Given the description of an element on the screen output the (x, y) to click on. 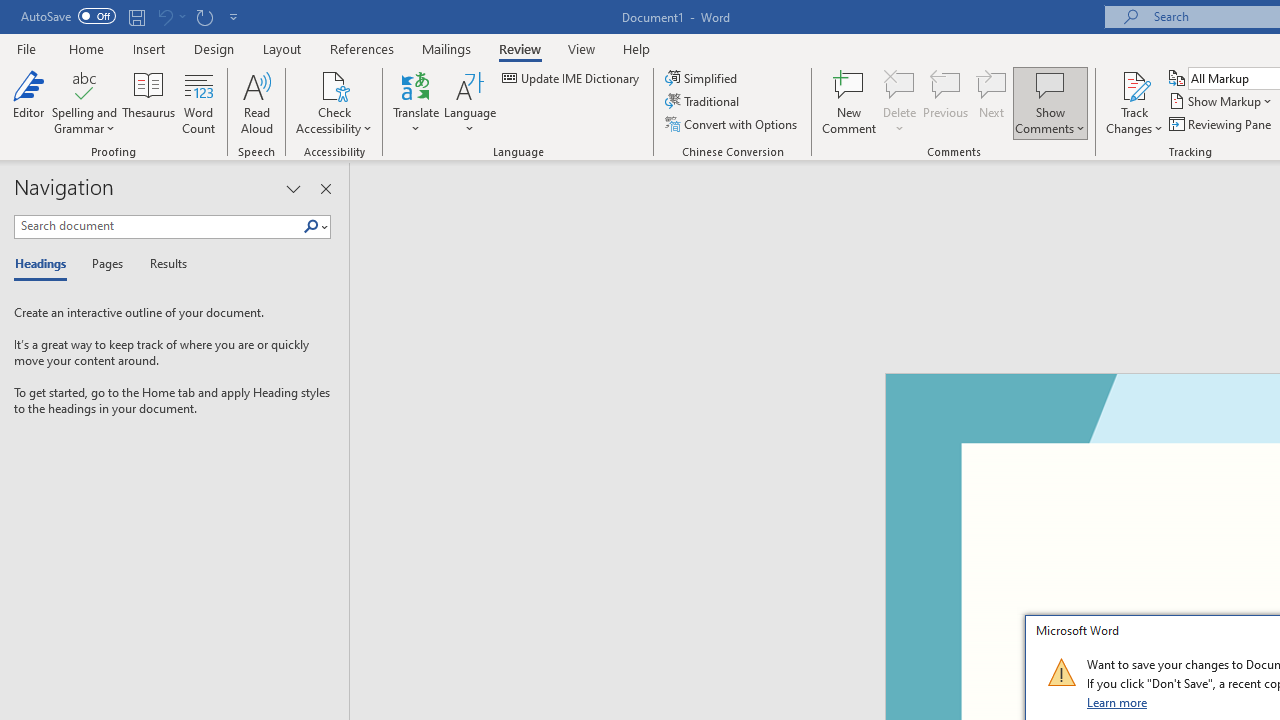
Traditional (703, 101)
Spelling and Grammar (84, 102)
Search document (157, 226)
Read Aloud (256, 102)
Class: NetUIImage (1061, 671)
Customize Quick Access Toolbar (234, 15)
Track Changes (1134, 84)
Pages (105, 264)
Can't Undo (170, 15)
Design (214, 48)
File Tab (26, 48)
Simplified (702, 78)
